Given the description of an element on the screen output the (x, y) to click on. 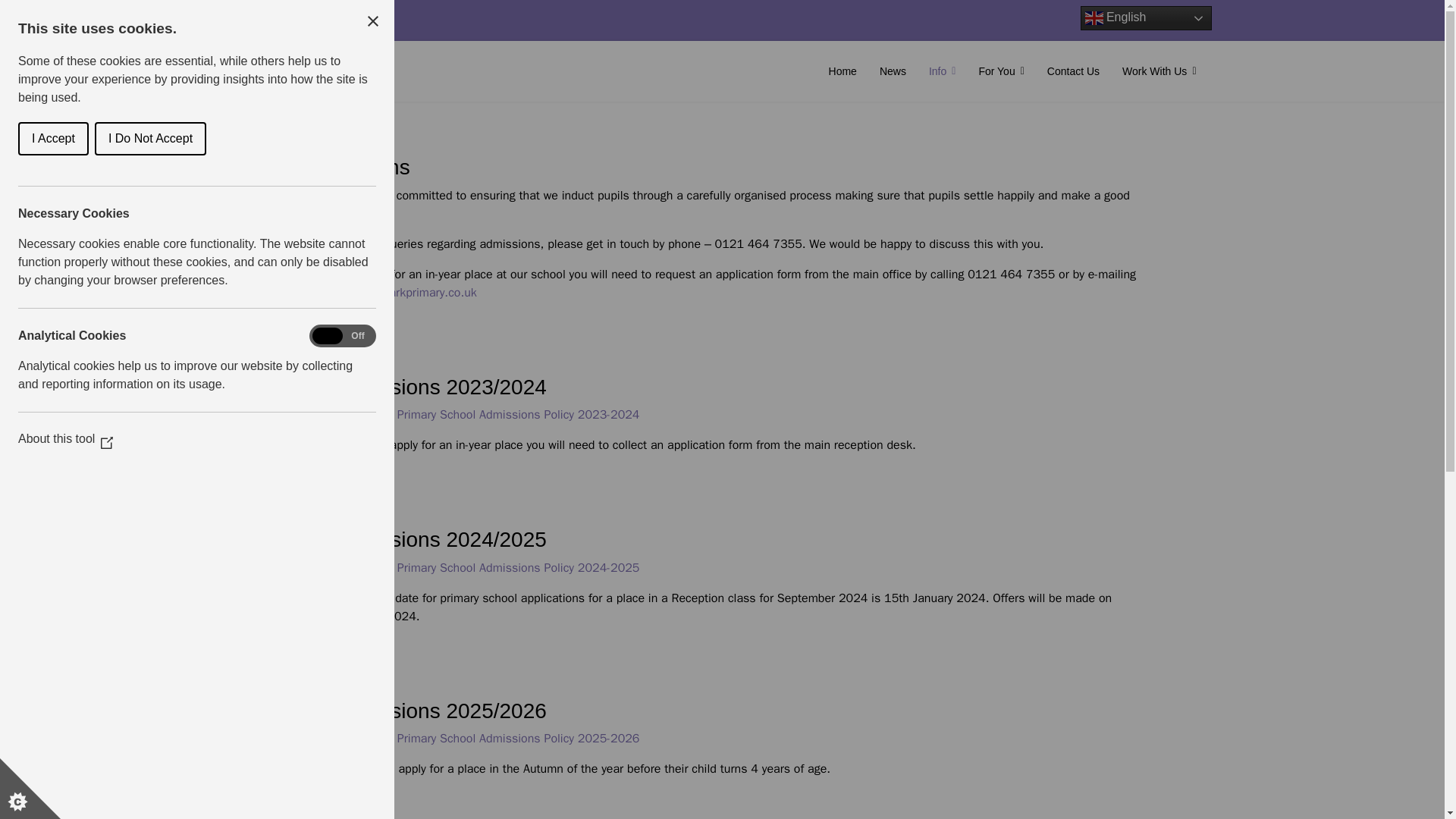
English (1145, 17)
We are part of the PACT (317, 13)
I Do Not Accept (33, 138)
